Given the description of an element on the screen output the (x, y) to click on. 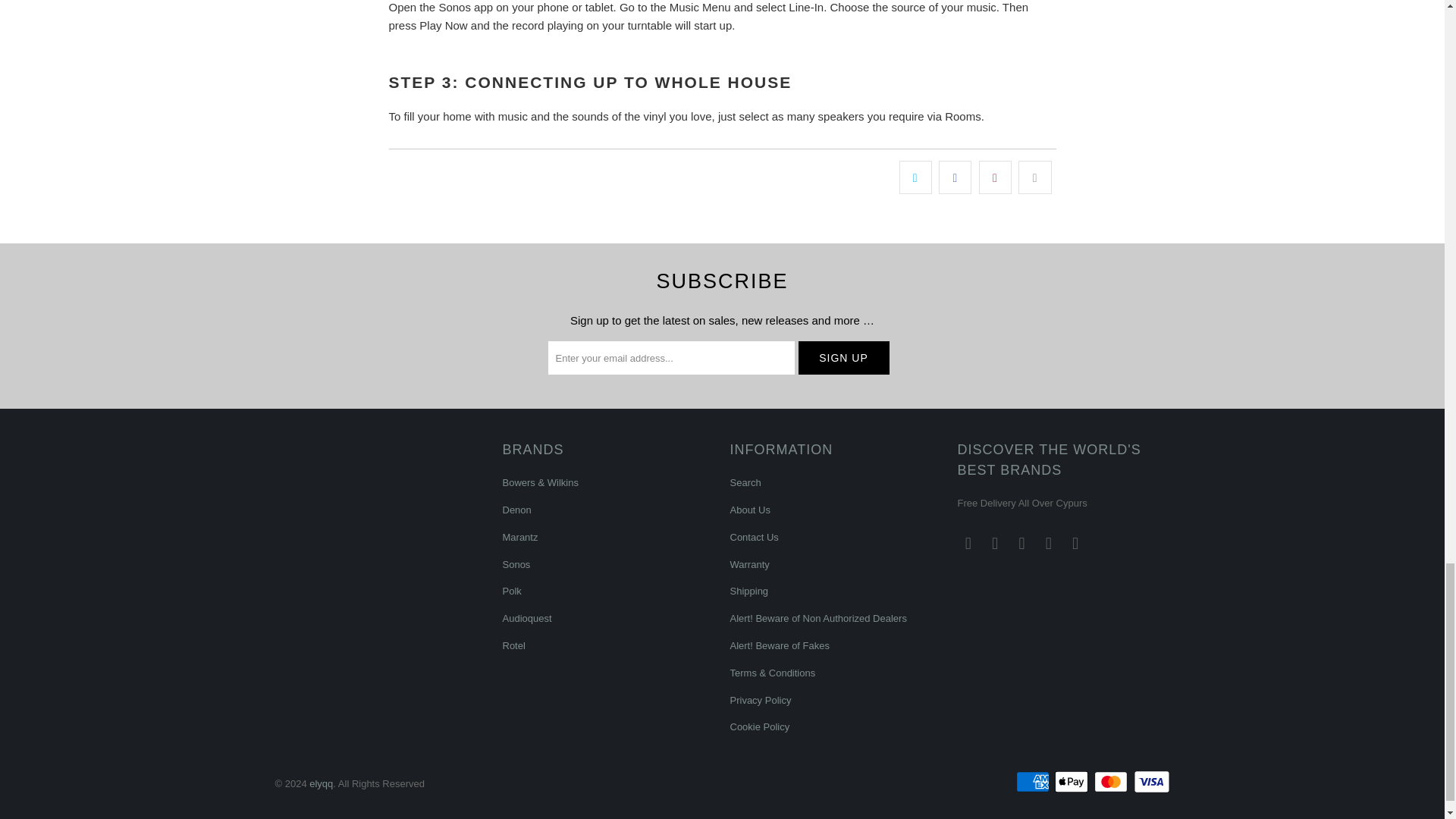
Apple Pay (1072, 781)
Email this to a friend (1034, 177)
Sign Up (842, 357)
Share this on Twitter (915, 177)
Share this on Pinterest (994, 177)
American Express (1034, 781)
Mastercard (1112, 781)
Share this on Facebook (955, 177)
Visa (1150, 781)
